Given the description of an element on the screen output the (x, y) to click on. 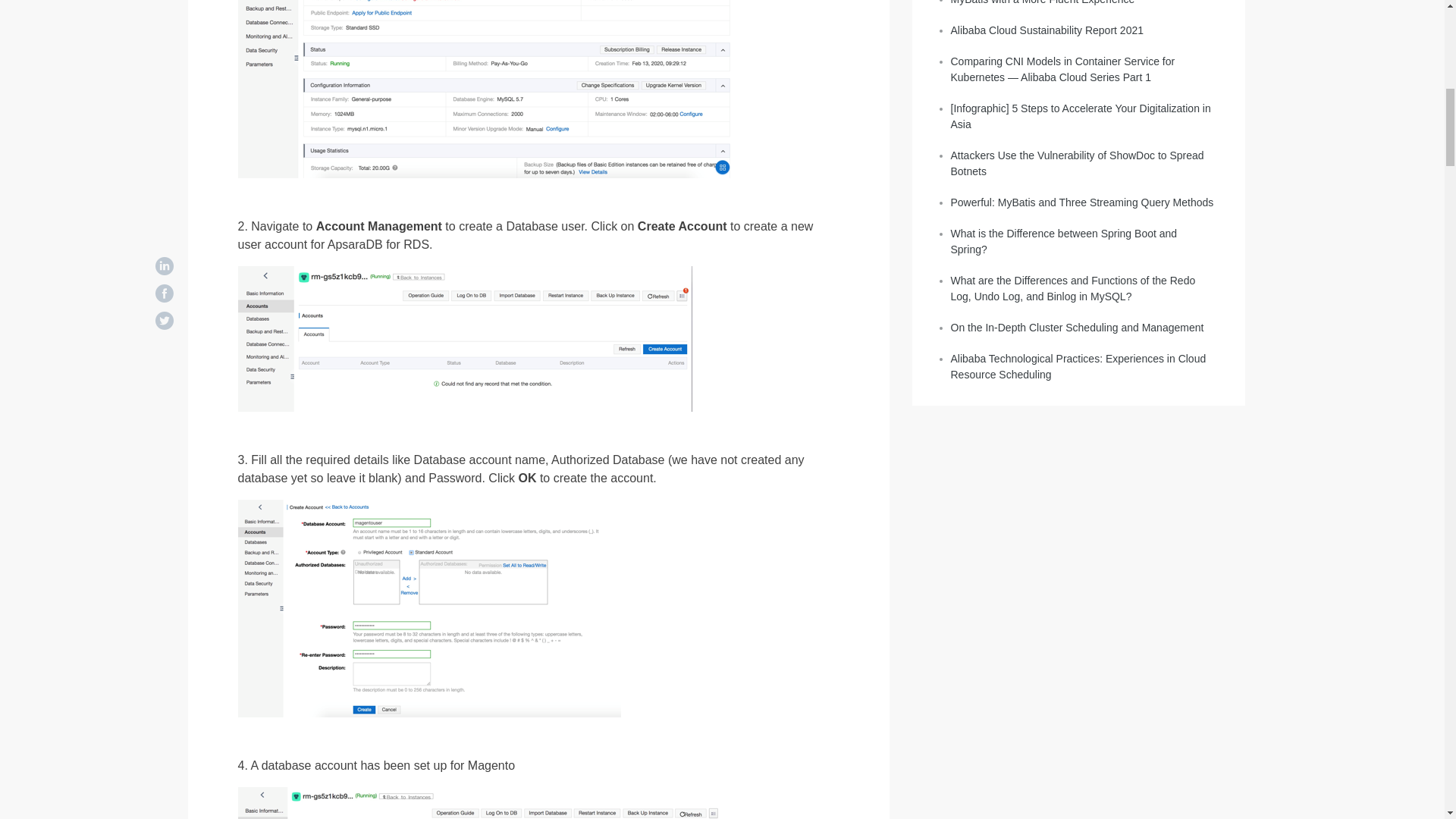
4 (479, 803)
1 (486, 89)
2 (465, 338)
3 (429, 608)
